Given the description of an element on the screen output the (x, y) to click on. 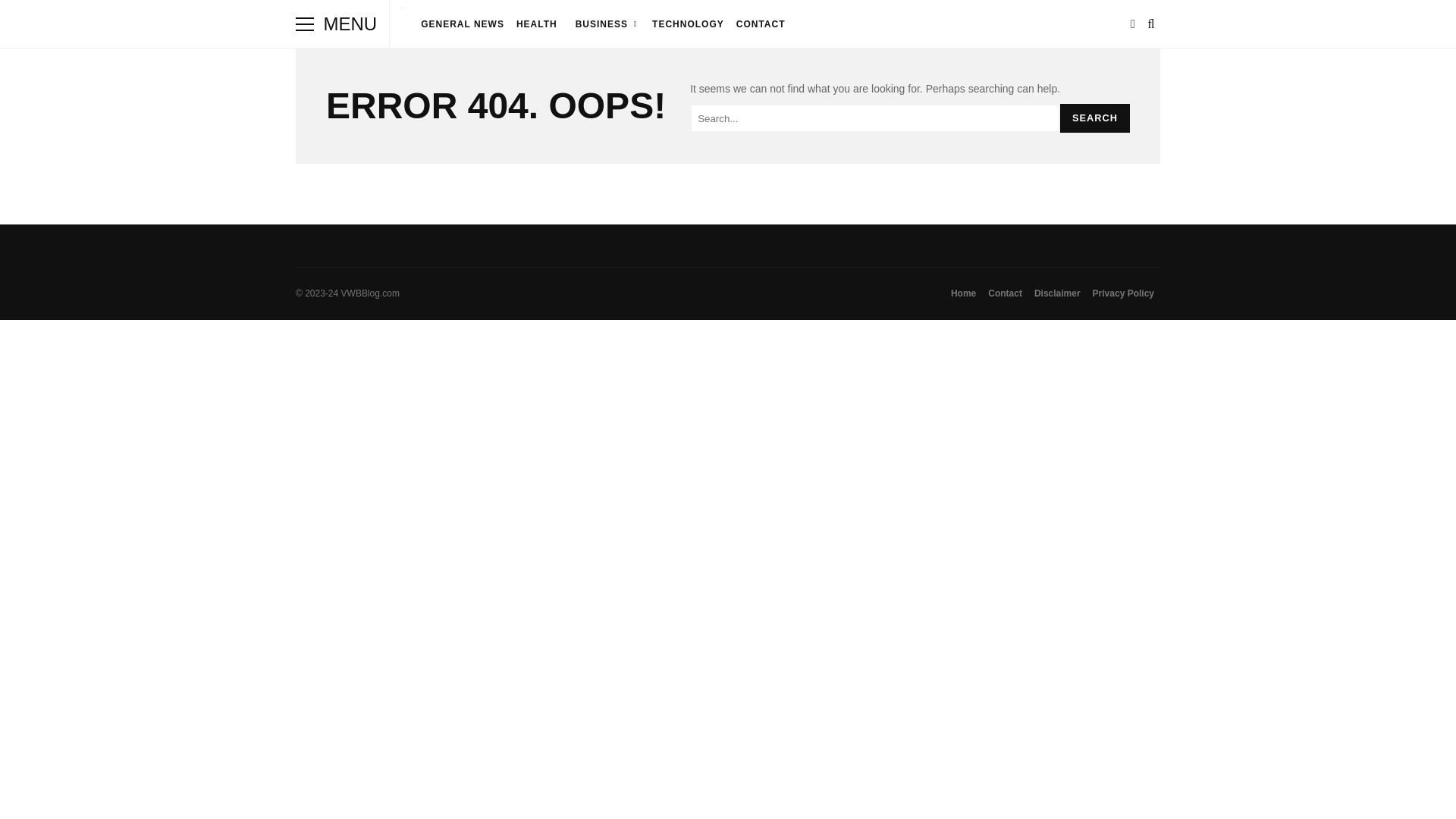
CONTACT (761, 24)
TECHNOLOGY (688, 24)
Home (962, 293)
SEARCH (1094, 118)
Contact (1004, 293)
BUSINESS (604, 24)
HEALTH (537, 24)
GENERAL NEWS (462, 24)
